Given the description of an element on the screen output the (x, y) to click on. 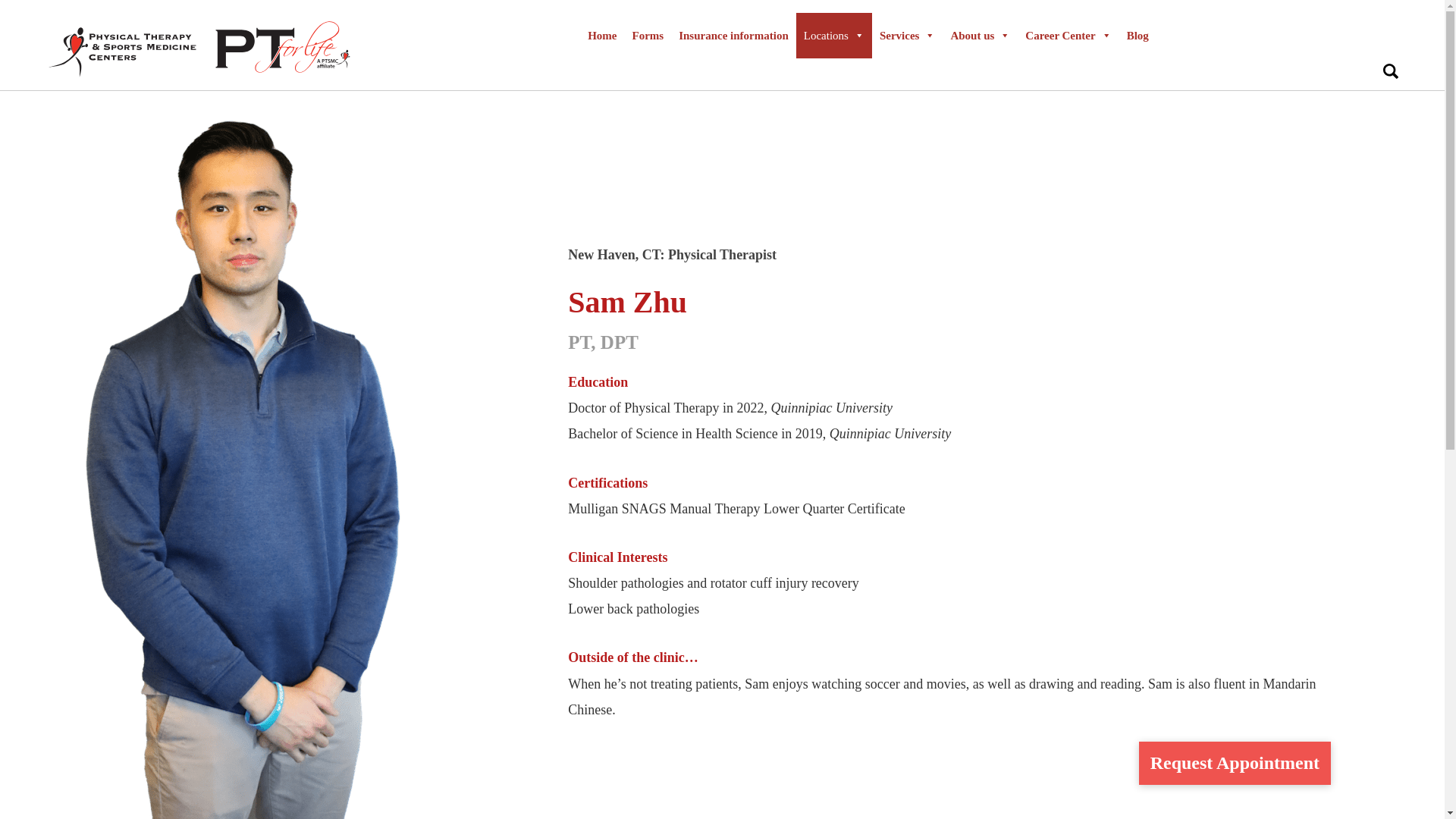
Insurance information (733, 35)
Home (601, 35)
Locations (834, 35)
Forms (647, 35)
